Given the description of an element on the screen output the (x, y) to click on. 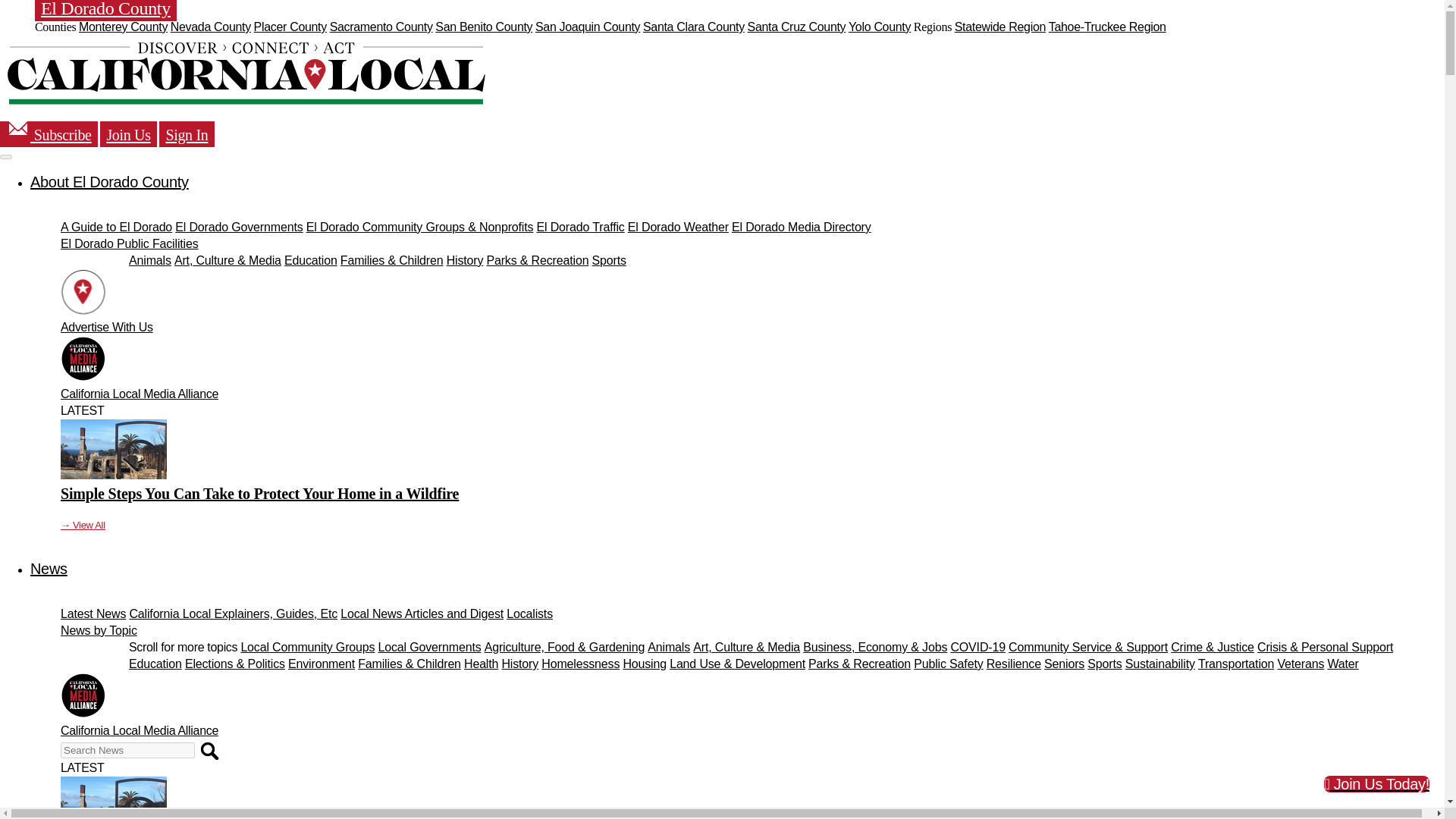
All about El Dorado. (109, 181)
El Dorado County (105, 10)
El Dorado Weather (678, 226)
List of public facilities. (129, 243)
Welcome! Glad you came to participate! (186, 134)
Sports (609, 259)
Sign In (186, 134)
Santa Clara County (693, 26)
Placer County (289, 26)
El Dorado Traffic (580, 226)
Yolo County (879, 26)
Join Us (127, 134)
Subscribe (48, 134)
Advertise With Us (106, 327)
El Dorado Public Facilities (129, 243)
